Given the description of an element on the screen output the (x, y) to click on. 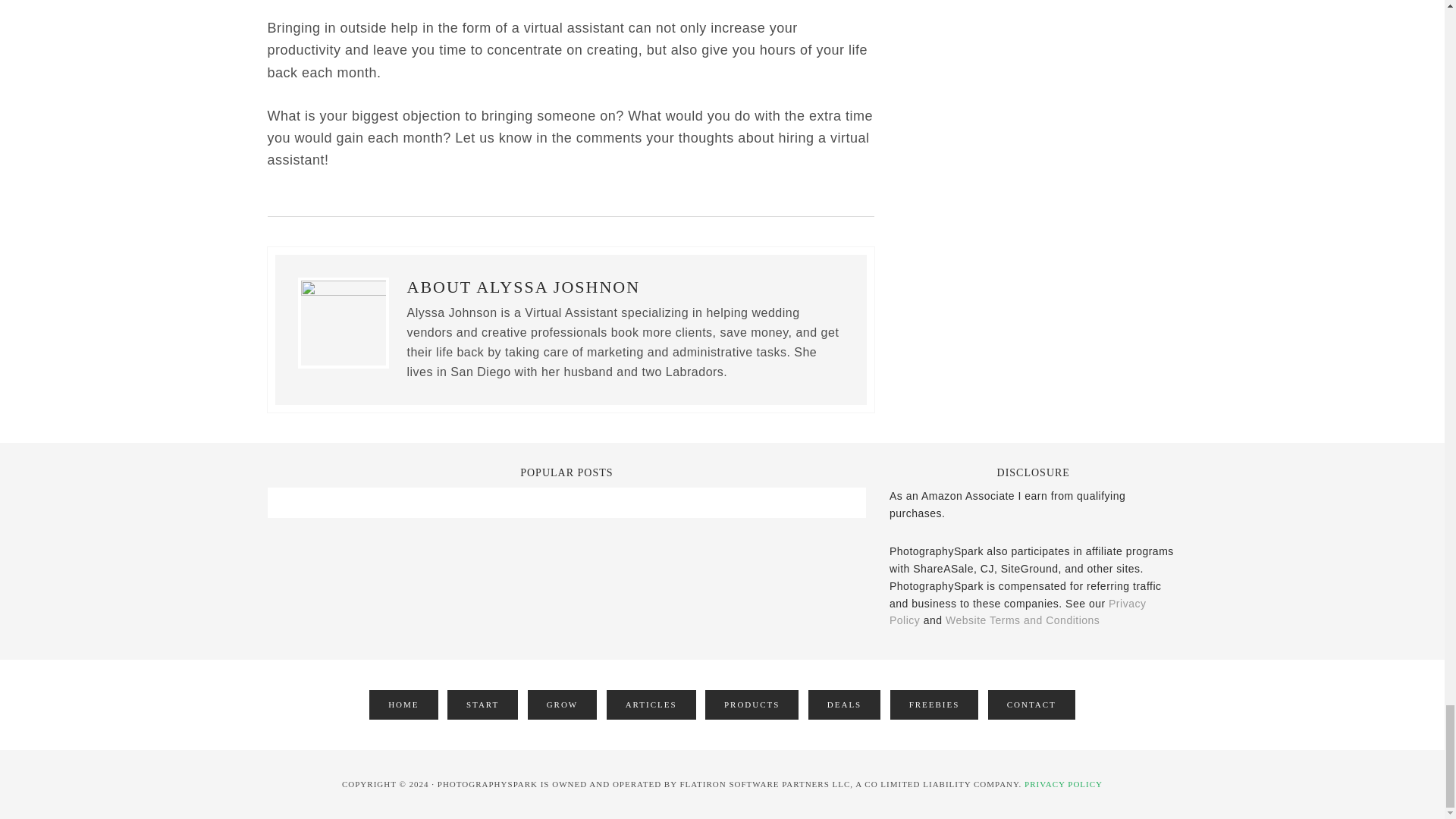
PRODUCTS (750, 704)
FREEBIES (933, 704)
ARTICLES (651, 704)
CONTACT (1031, 704)
START (482, 704)
HOME (403, 704)
GROW (561, 704)
Privacy Policy (1017, 612)
PRIVACY POLICY (1063, 783)
Website Terms and Conditions (1021, 620)
